Given the description of an element on the screen output the (x, y) to click on. 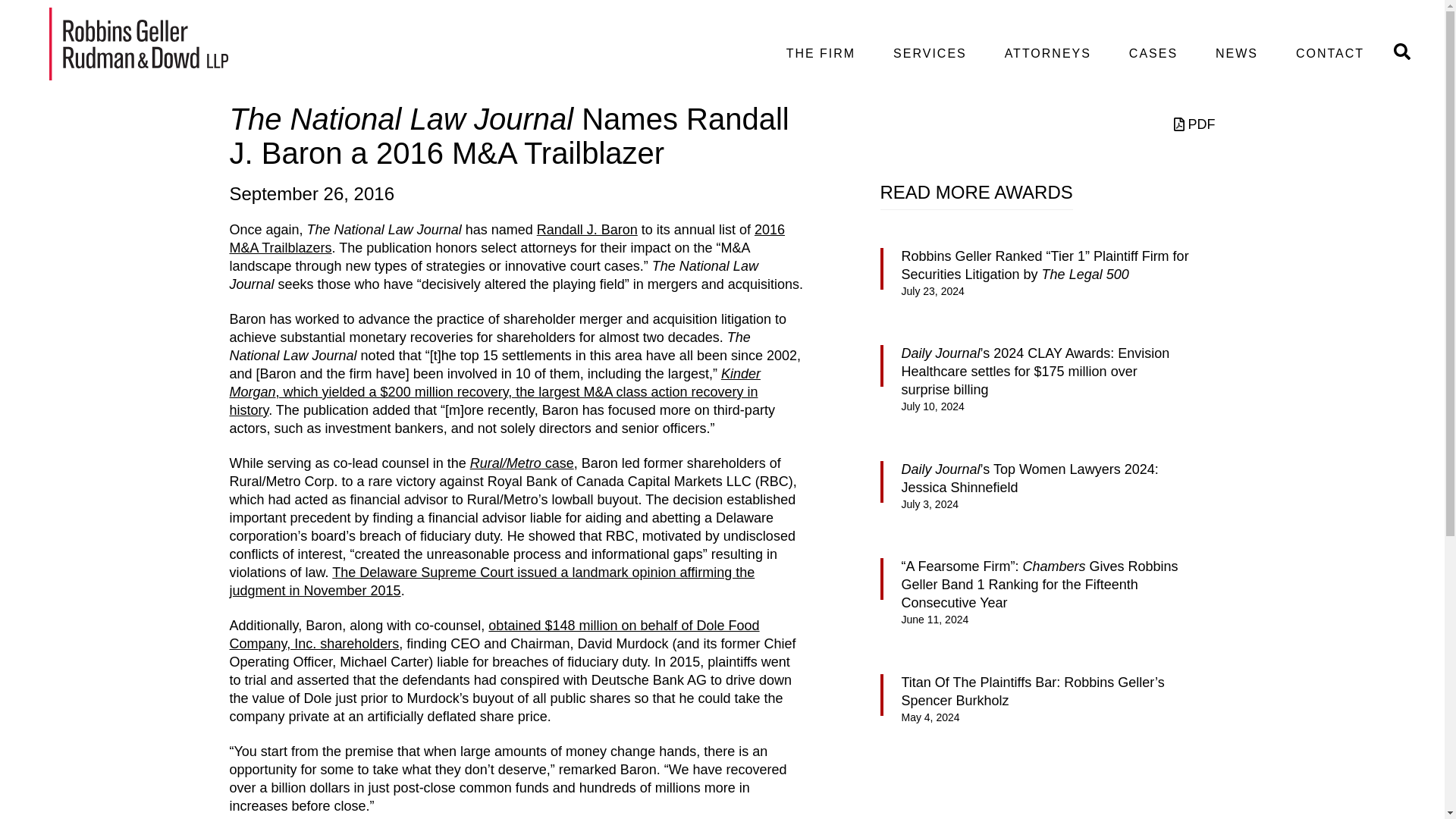
Randall J. Baron (587, 229)
ATTORNEYS (1047, 53)
PDF (1194, 124)
THE FIRM (821, 53)
CONTACT (1329, 53)
SERVICES (930, 53)
CASES (1152, 53)
NEWS (1236, 53)
